Given the description of an element on the screen output the (x, y) to click on. 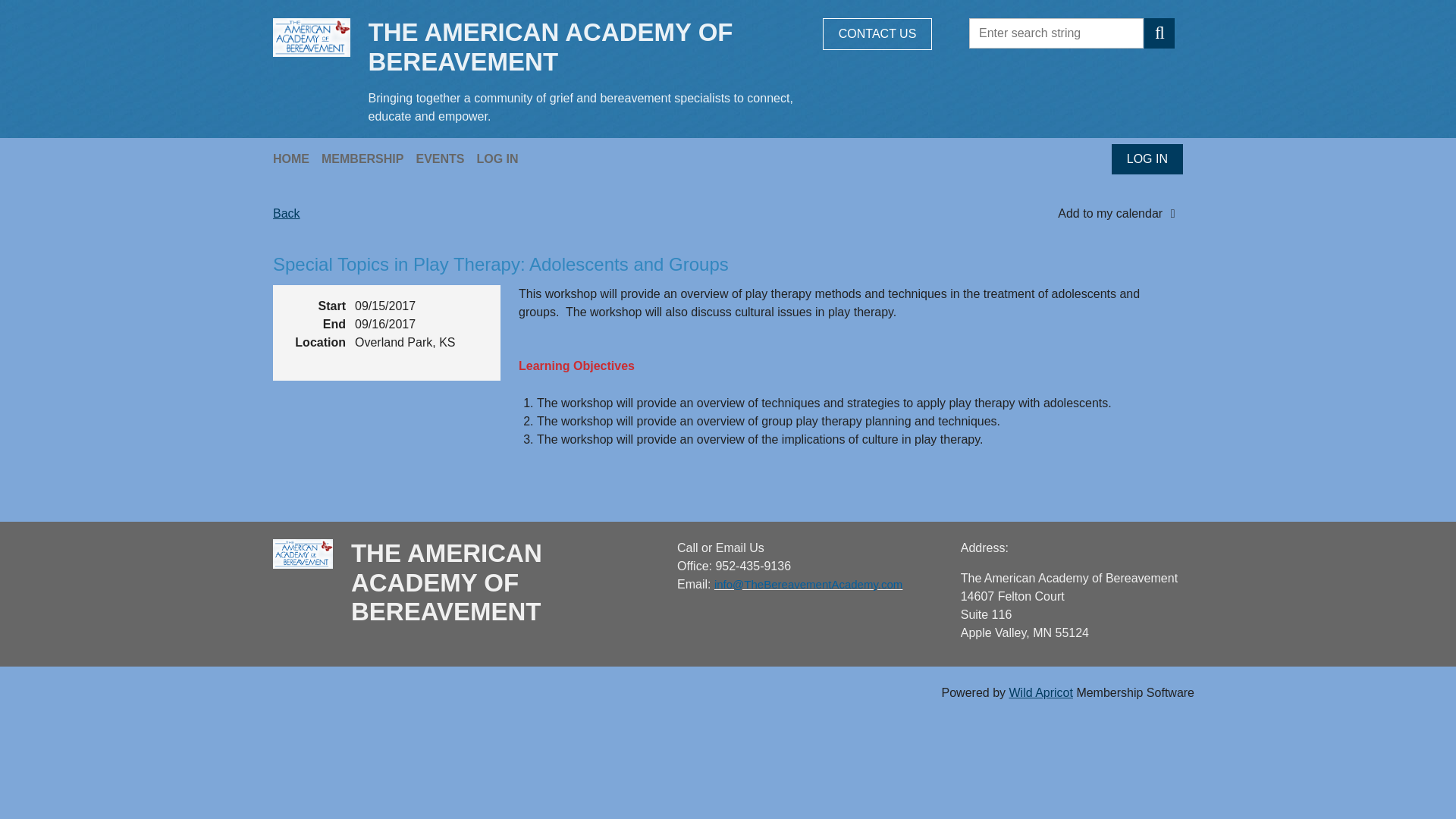
Search (1159, 33)
Log In (502, 158)
Events (445, 158)
Log in (1147, 159)
MEMBERSHIP (367, 158)
Membership (367, 158)
CONTACT US (877, 33)
LOG IN (502, 158)
HOME (297, 158)
Back (286, 213)
